Given the description of an element on the screen output the (x, y) to click on. 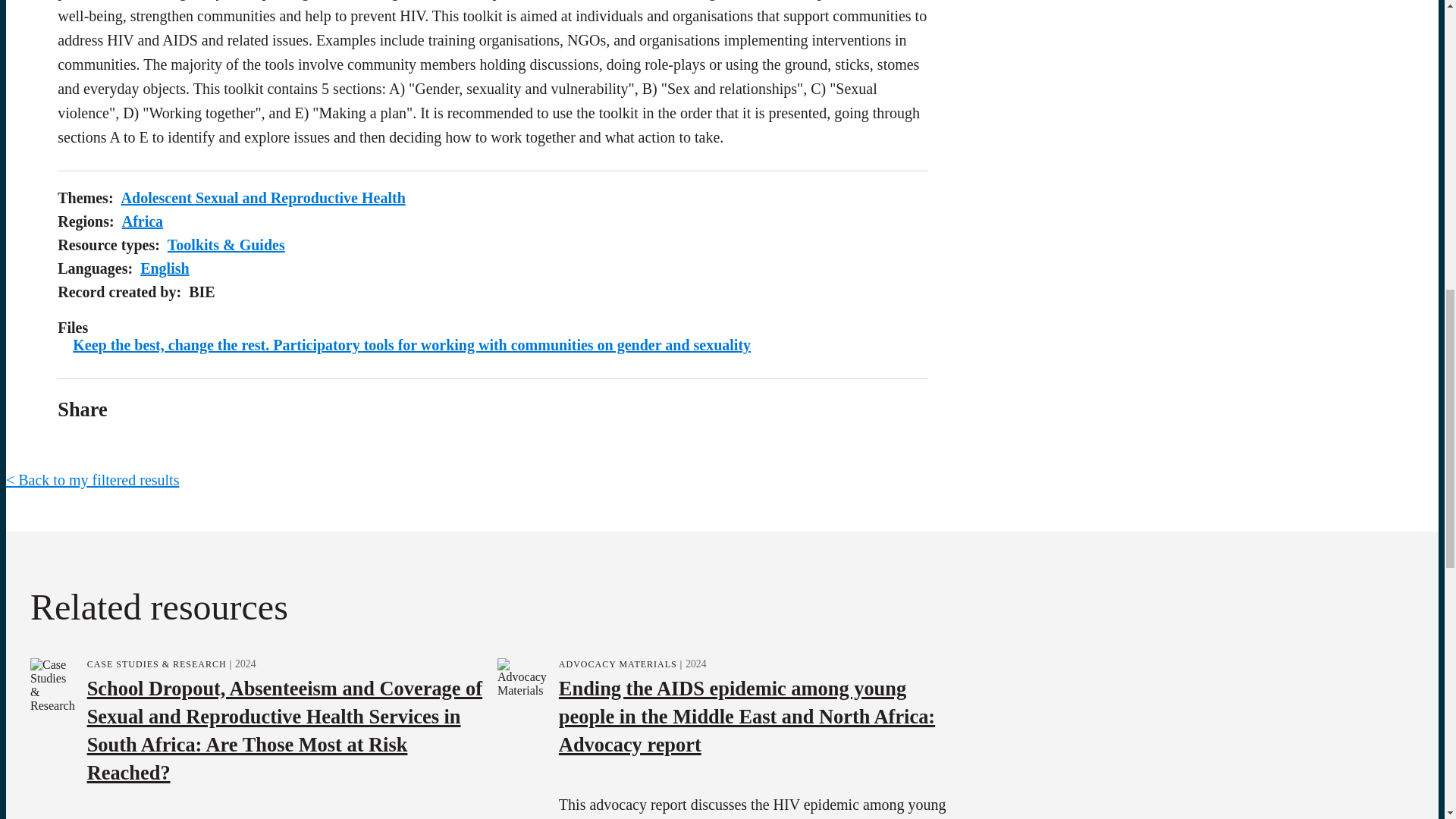
Adolescent Sexual and Reproductive Health (263, 197)
Africa (142, 221)
English (164, 268)
